Given the description of an element on the screen output the (x, y) to click on. 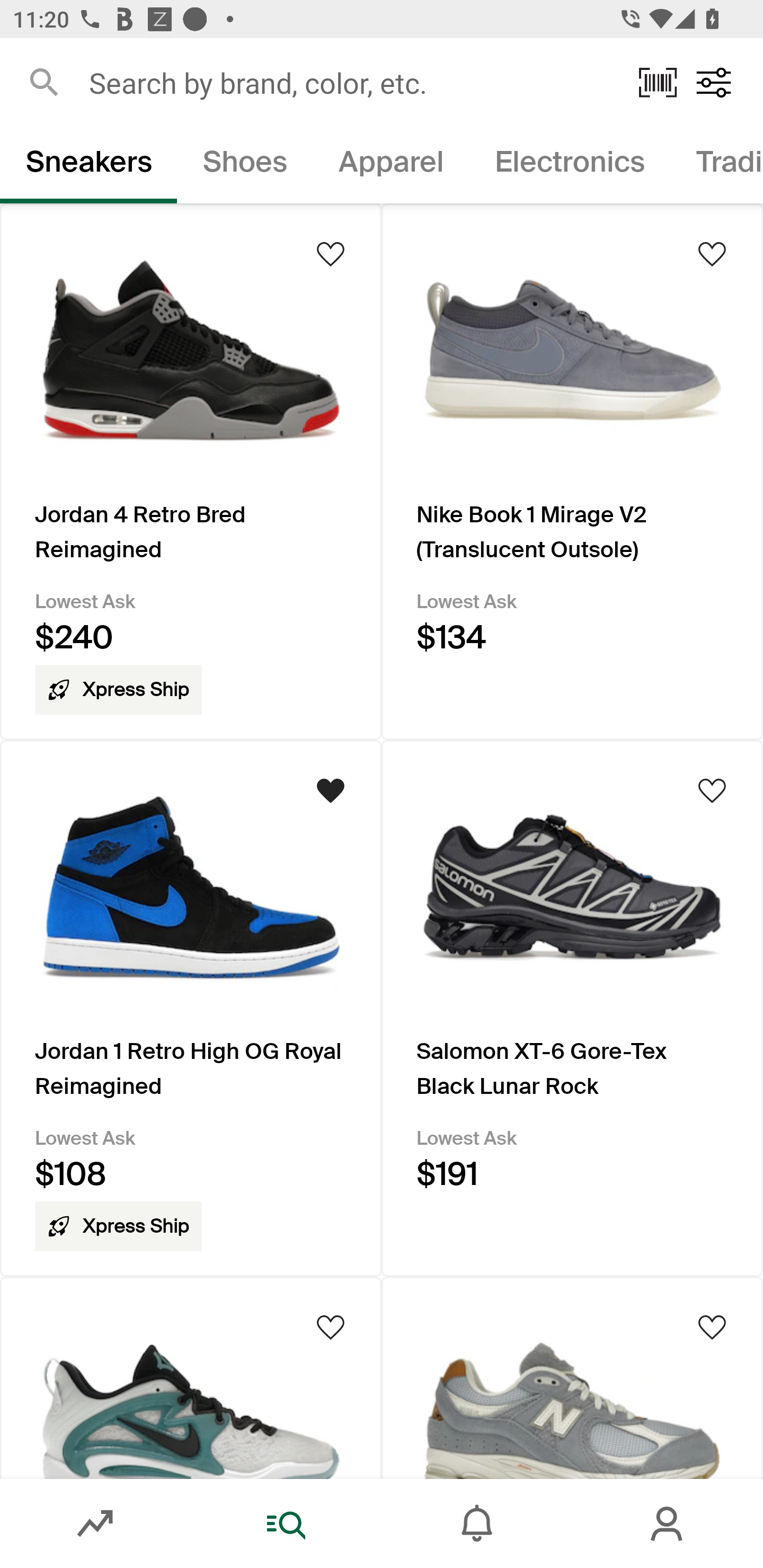
Search by brand, color, etc. (351, 82)
Shoes (244, 165)
Apparel (390, 165)
Electronics (569, 165)
Product Image (190, 1377)
Product Image (572, 1377)
Market (95, 1523)
Inbox (476, 1523)
Account (667, 1523)
